Given the description of an element on the screen output the (x, y) to click on. 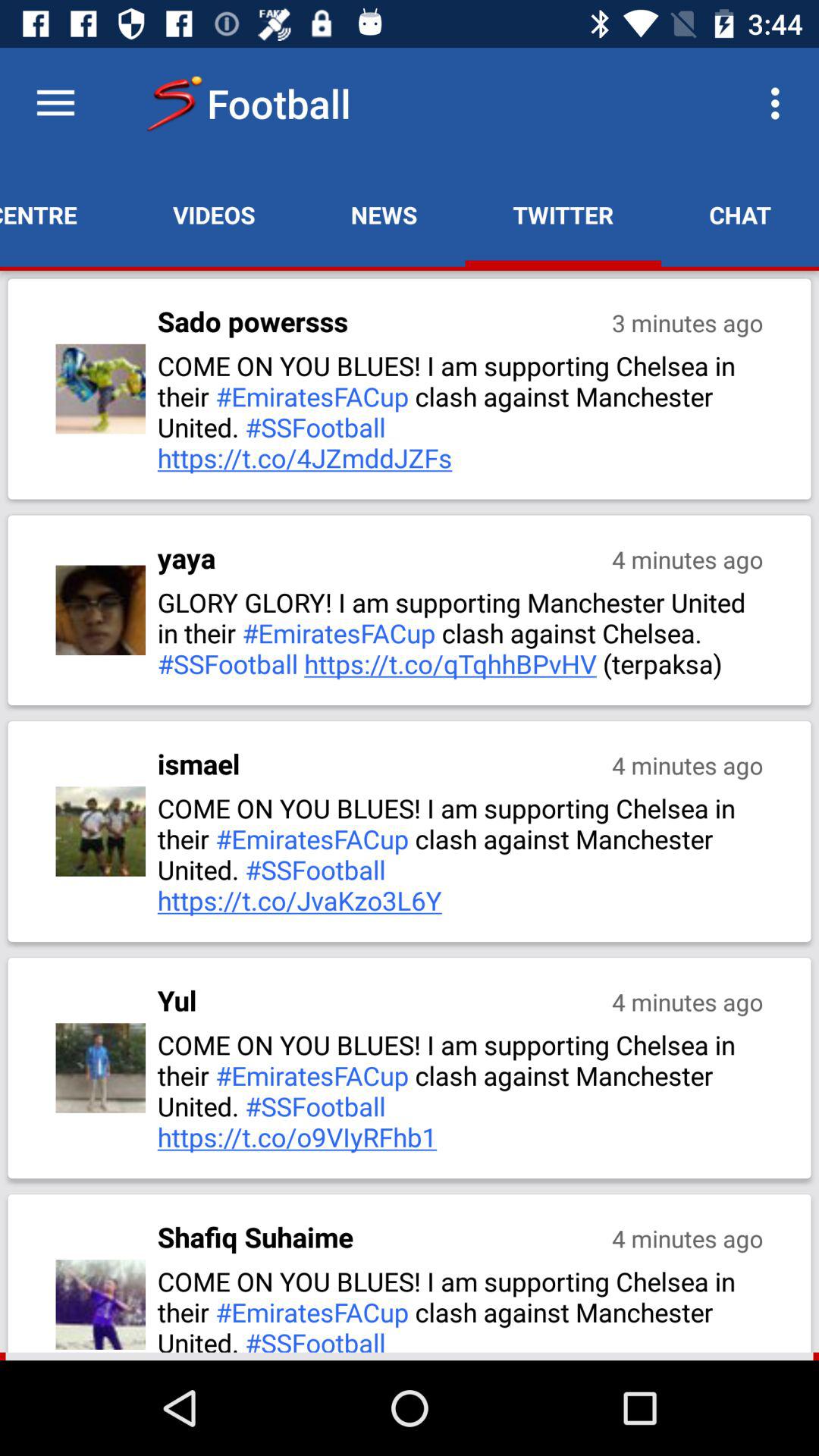
turn off icon above ismael (462, 632)
